Given the description of an element on the screen output the (x, y) to click on. 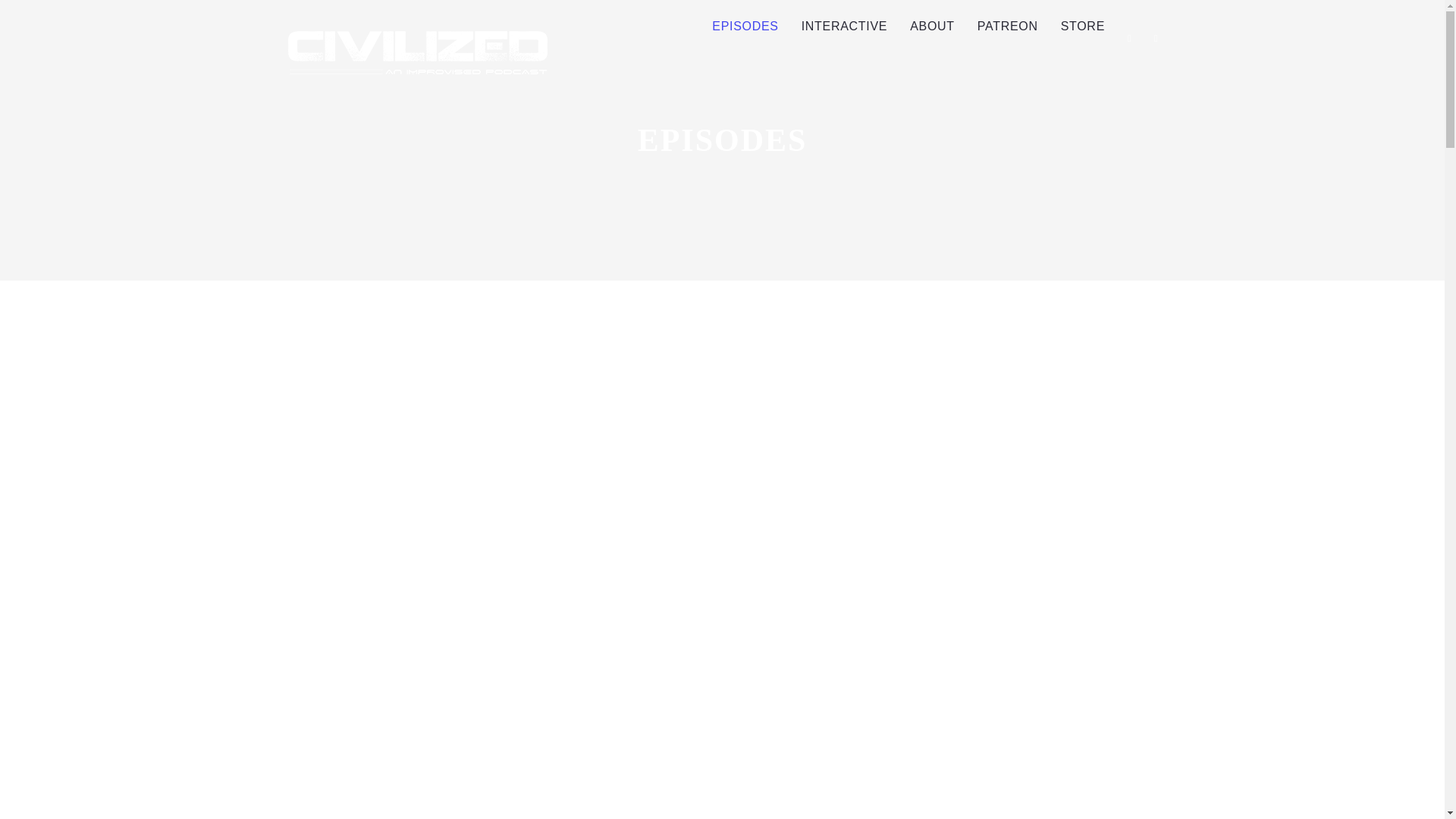
ABOUT (932, 26)
PATREON (1007, 26)
Civilized (418, 50)
INTERACTIVE (844, 26)
STORE (1082, 26)
EPISODES (744, 26)
